Given the description of an element on the screen output the (x, y) to click on. 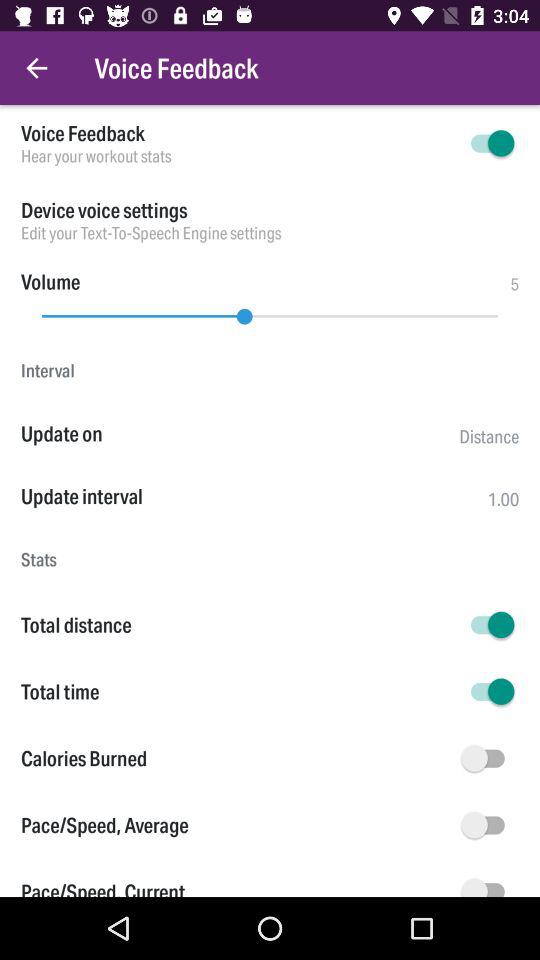
launch the icon below volume item (270, 311)
